Given the description of an element on the screen output the (x, y) to click on. 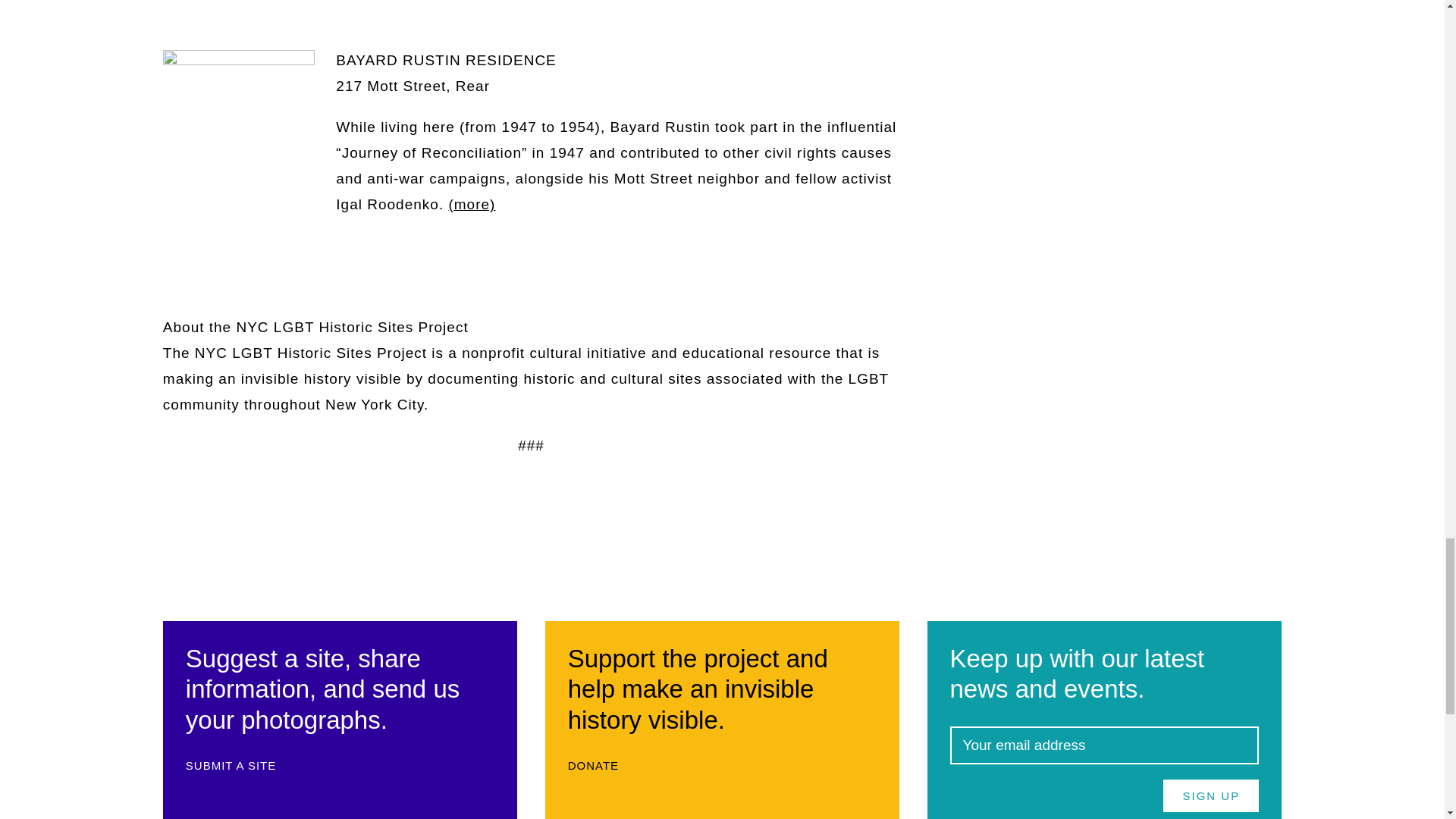
Sign up (1211, 795)
DONATE (600, 765)
Sign up (1211, 795)
SUBMIT A SITE (238, 765)
